Given the description of an element on the screen output the (x, y) to click on. 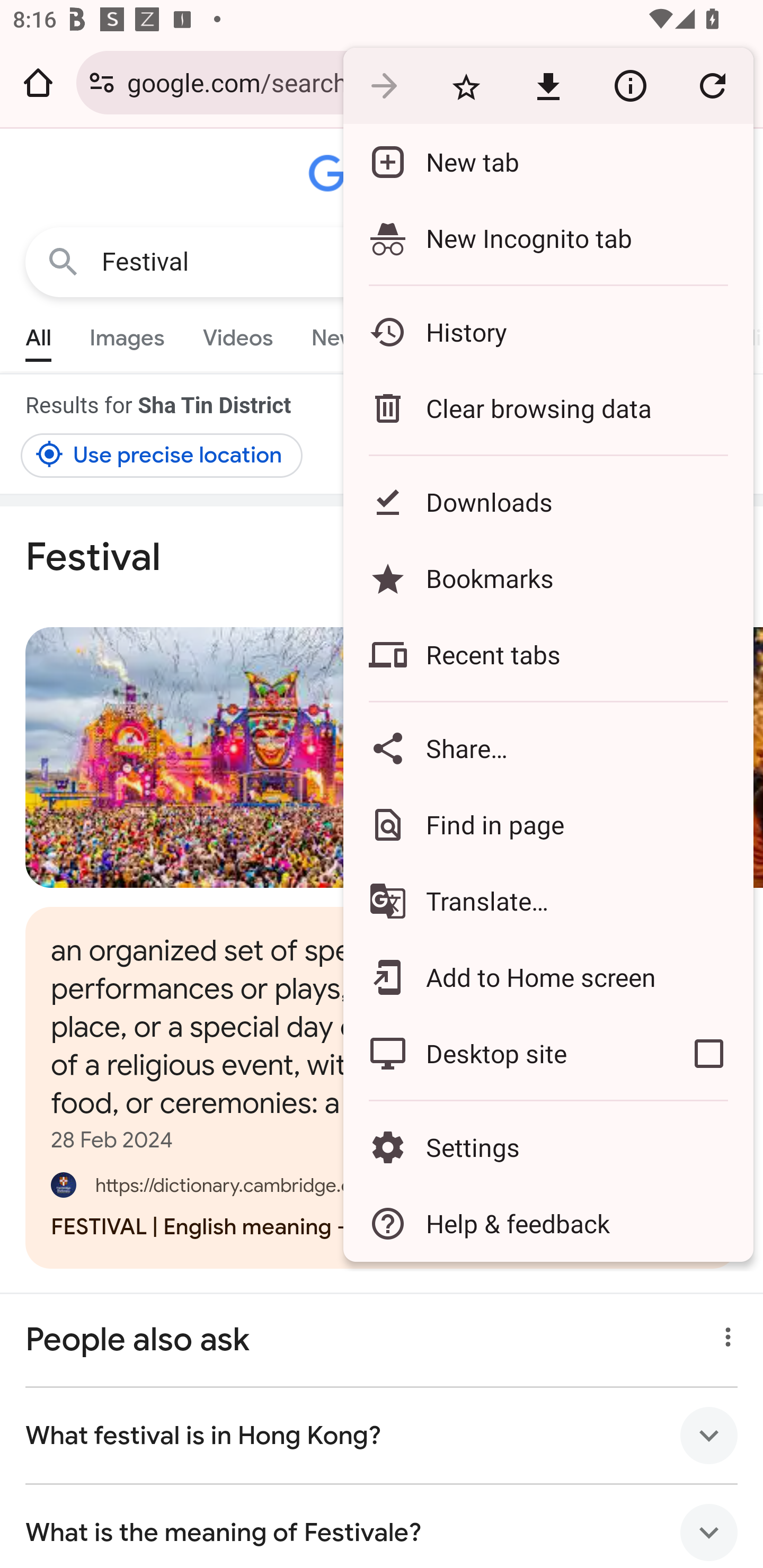
Forward (383, 85)
Bookmark (465, 85)
Download (548, 85)
Page info (630, 85)
Refresh (712, 85)
New tab (548, 161)
New Incognito tab (548, 237)
History (548, 332)
Clear browsing data (548, 408)
Downloads (548, 502)
Bookmarks (548, 578)
Recent tabs (548, 654)
Share… (548, 748)
Find in page (548, 824)
Translate… (548, 900)
Add to Home screen (548, 977)
Desktop site Turn on Request desktop site (503, 1053)
Settings (548, 1146)
Help & feedback (548, 1223)
